Given the description of an element on the screen output the (x, y) to click on. 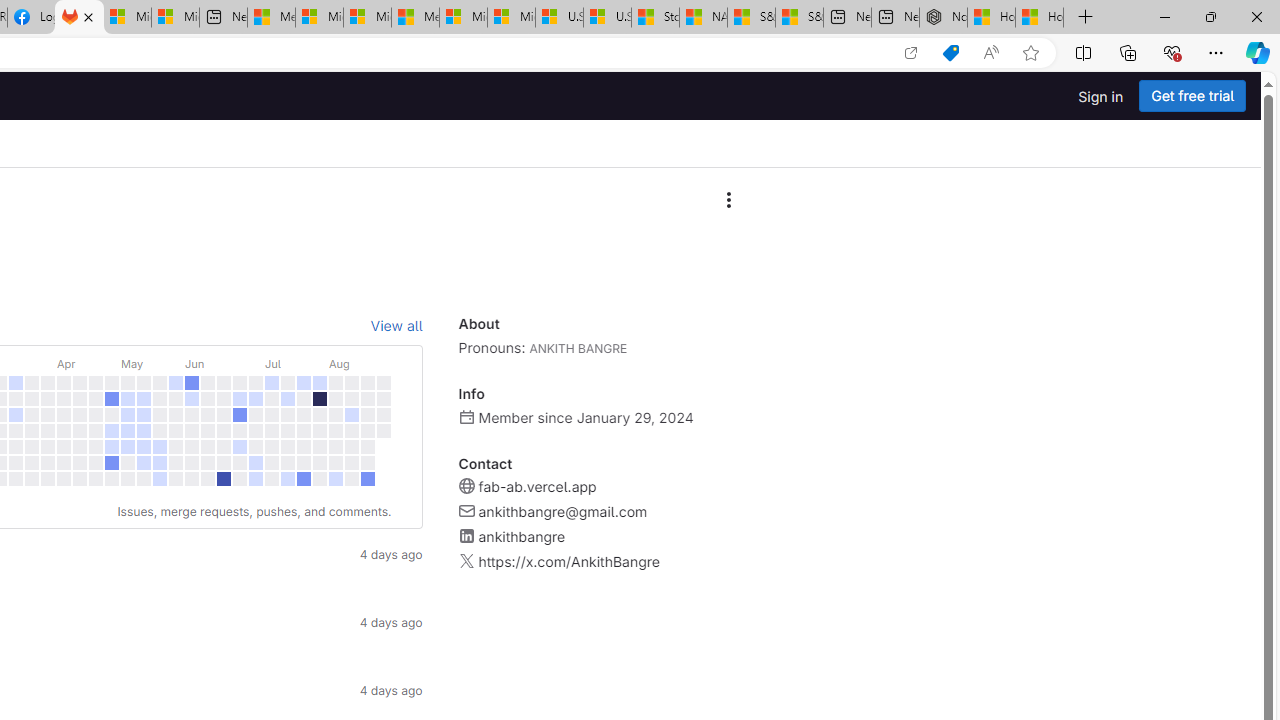
Class: s16 gl-fill-icon-subtle gl-mt-1 flex-shrink-0 (466, 561)
